Given the description of an element on the screen output the (x, y) to click on. 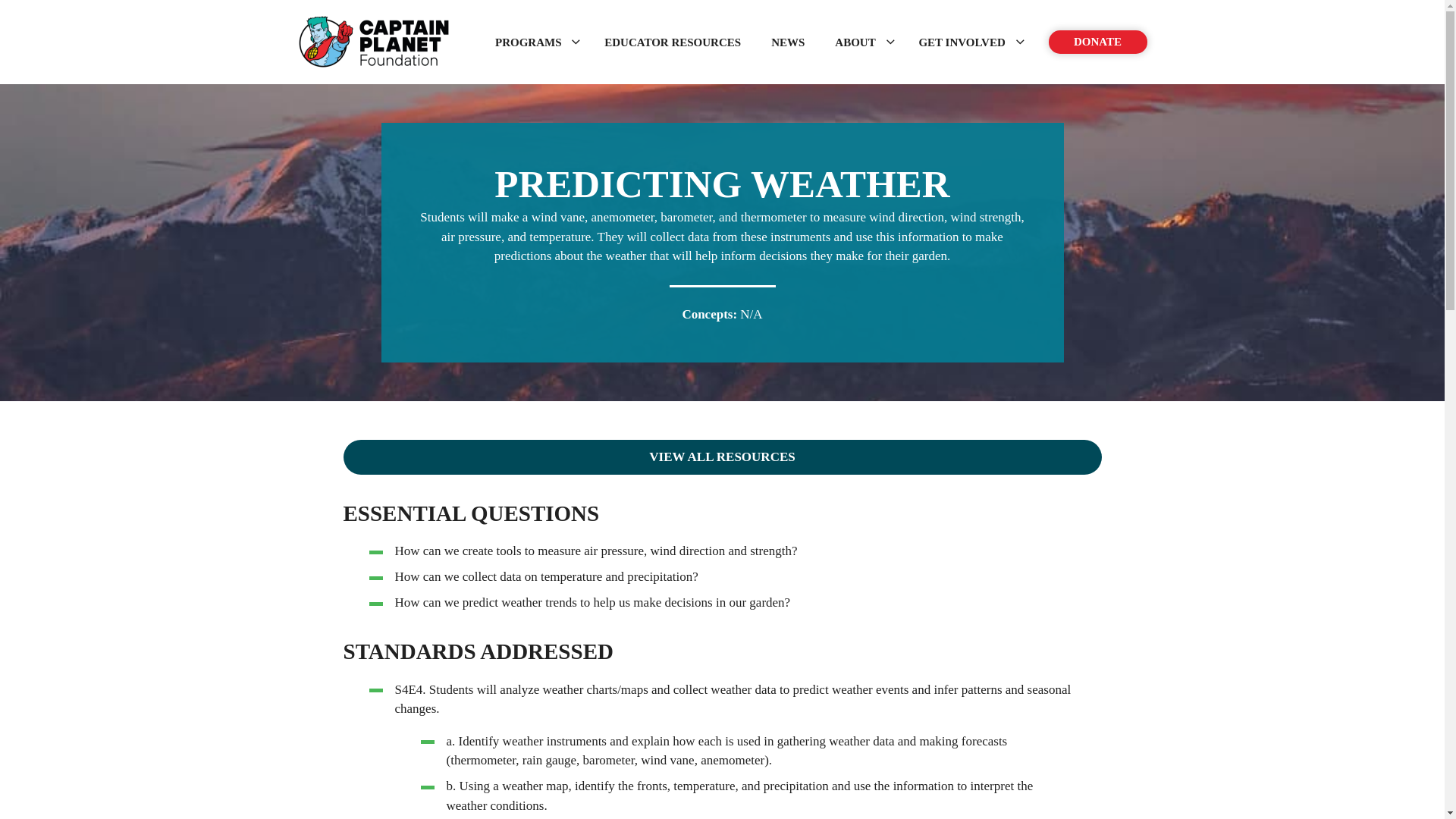
NEWS (787, 42)
EDUCATOR RESOURCES (672, 42)
GET INVOLVED (967, 42)
DONATE (1097, 42)
VIEW ALL RESOURCES (721, 457)
ABOUT (860, 42)
PROGRAMS (534, 42)
